Given the description of an element on the screen output the (x, y) to click on. 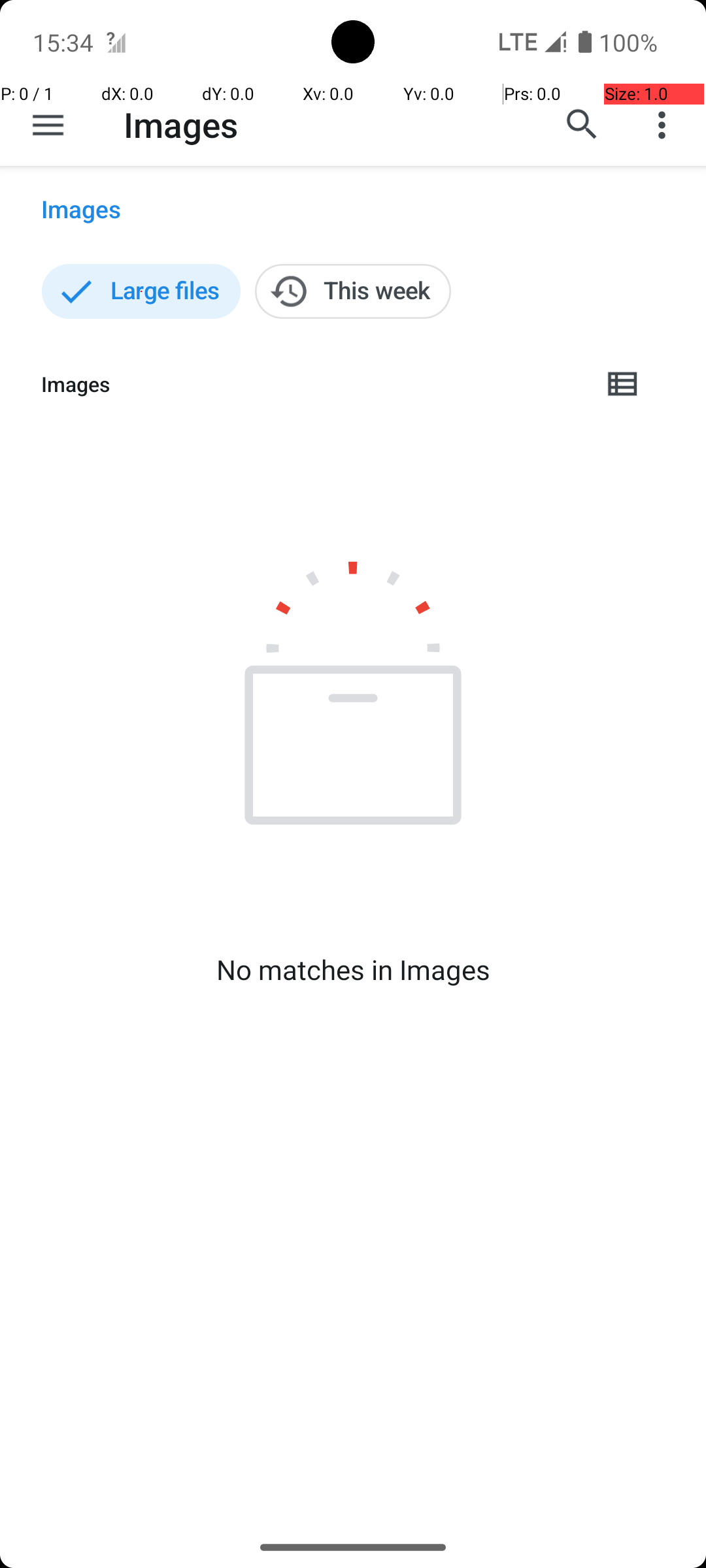
No matches in Images Element type: android.widget.TextView (352, 968)
